Given the description of an element on the screen output the (x, y) to click on. 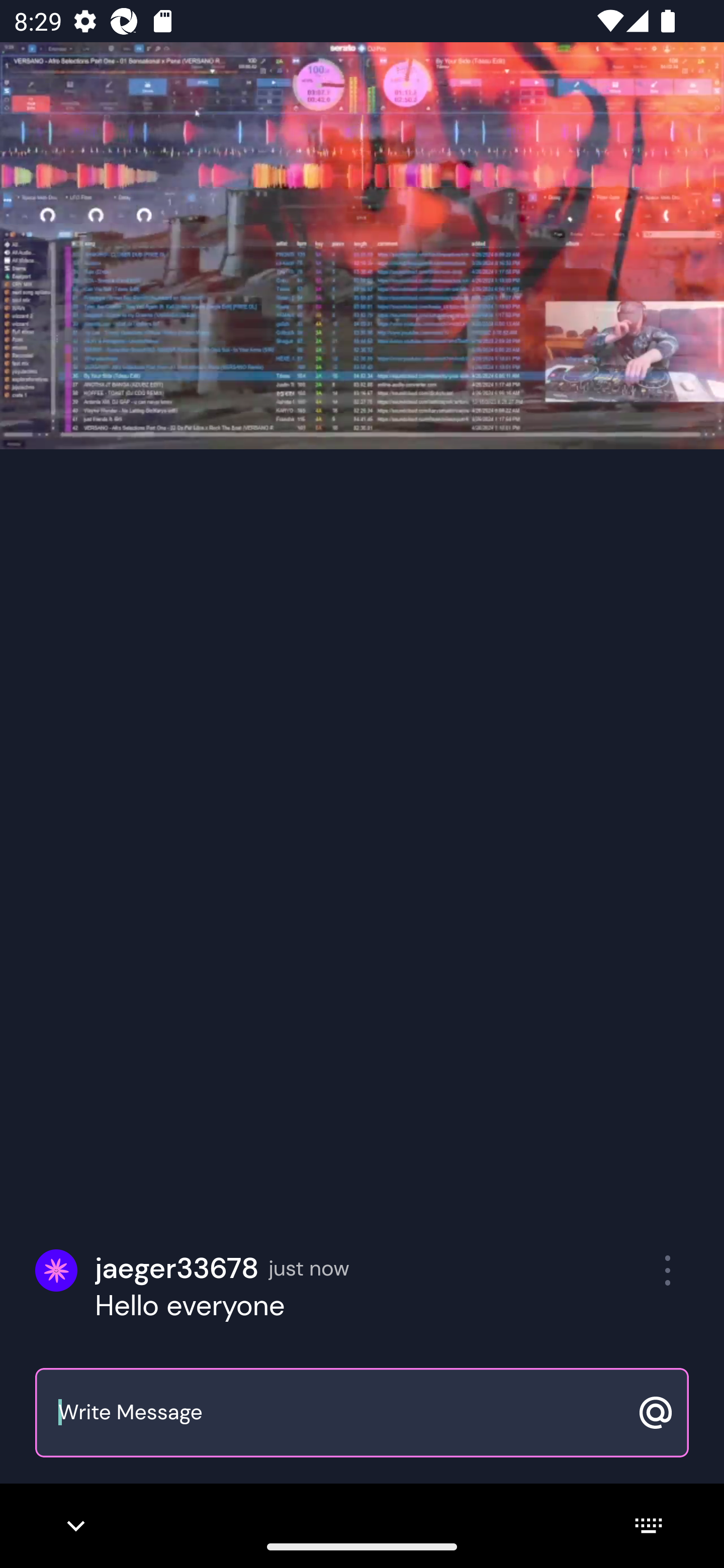
jaeger33678 (176, 1268)
Write Message (340, 1413)
